Given the description of an element on the screen output the (x, y) to click on. 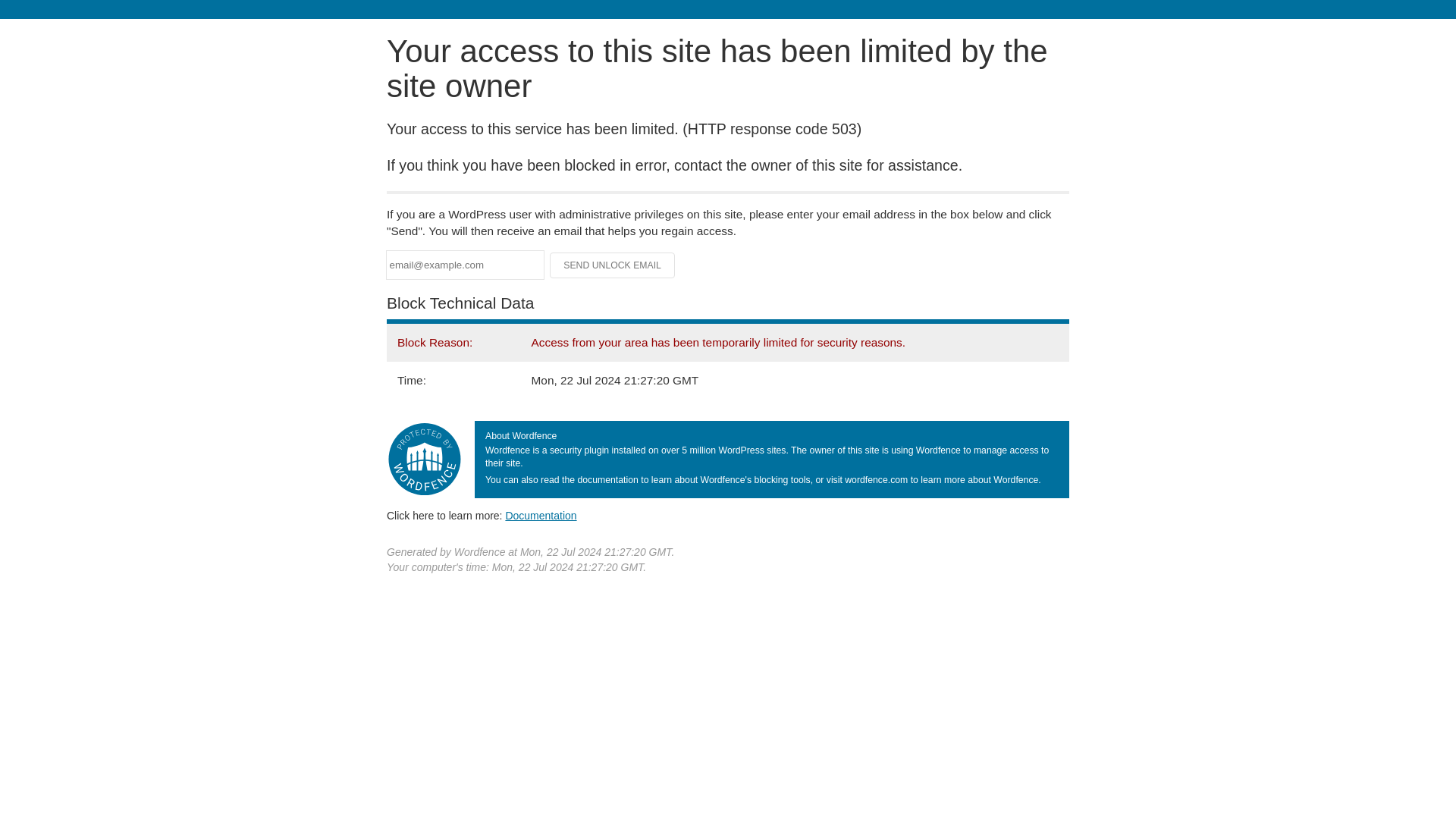
Documentation (540, 515)
Send Unlock Email (612, 265)
Send Unlock Email (612, 265)
